Given the description of an element on the screen output the (x, y) to click on. 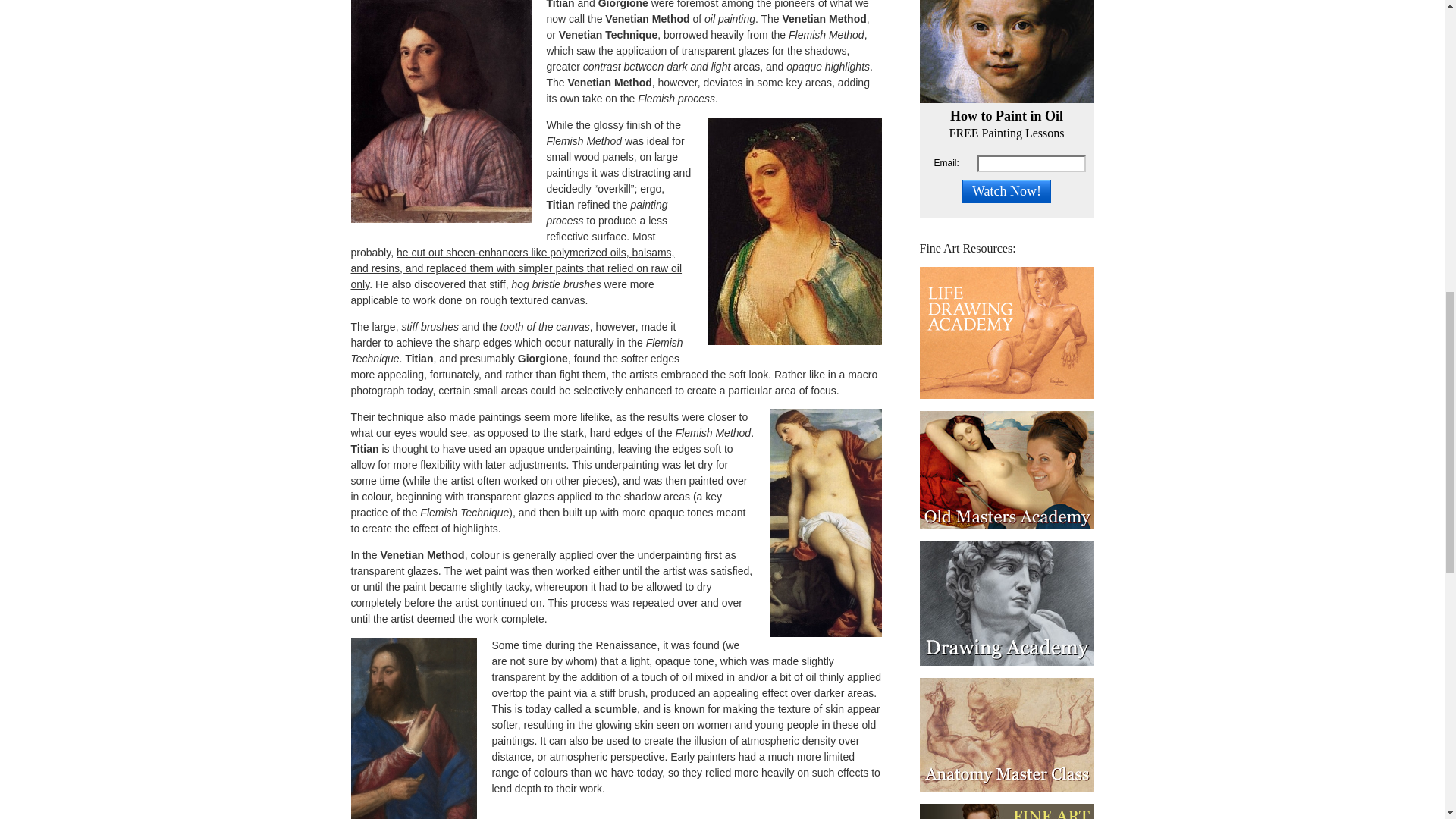
Watch Now! (1006, 191)
